Given the description of an element on the screen output the (x, y) to click on. 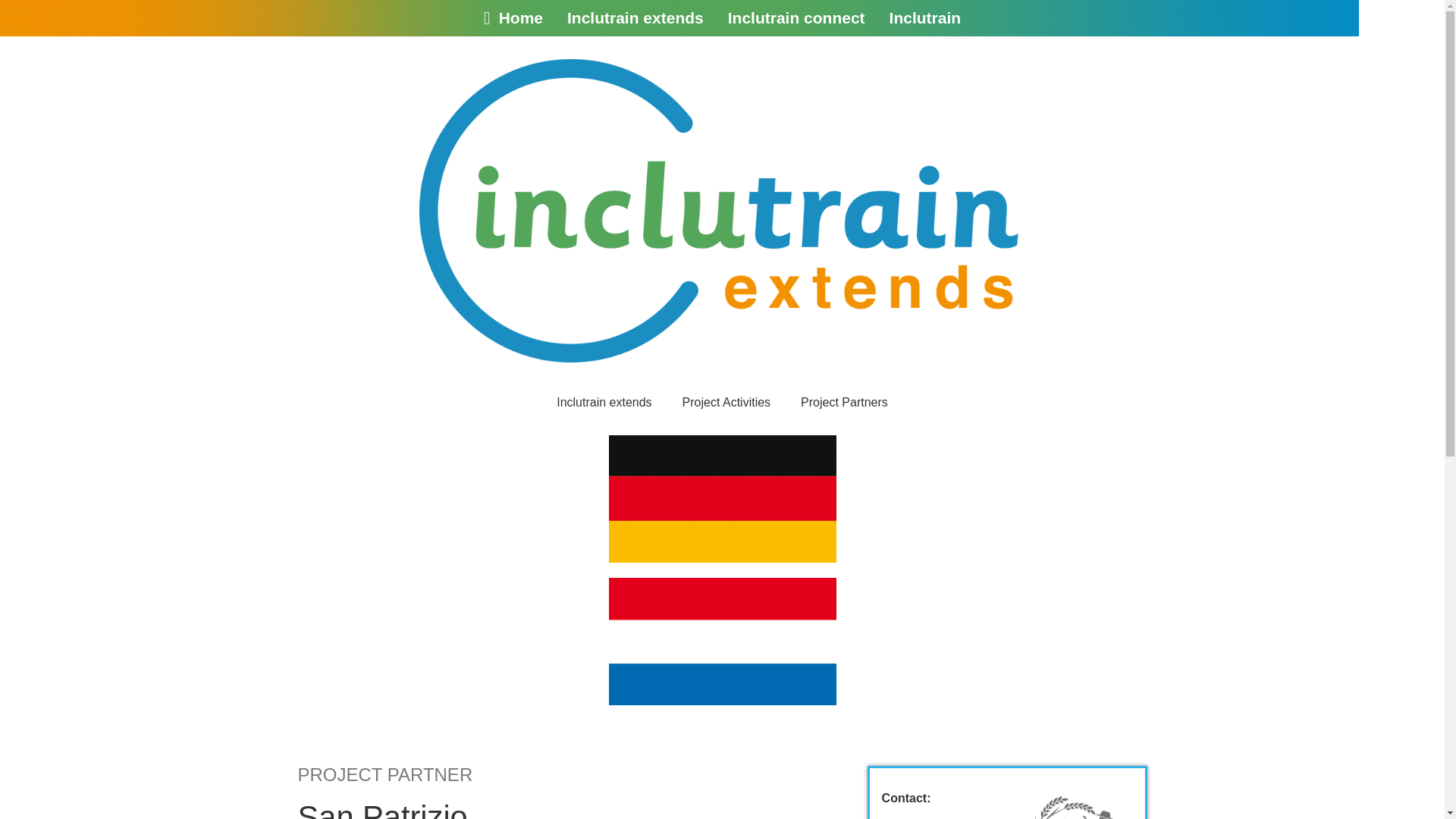
Inclutrain connect (796, 17)
Home (351, 741)
Inclutrain extends (635, 17)
Startseite (361, 696)
Inclutrain (924, 17)
Project Partners (810, 227)
Project Activities (680, 227)
Home (513, 17)
Inclutrain extends (547, 227)
